Given the description of an element on the screen output the (x, y) to click on. 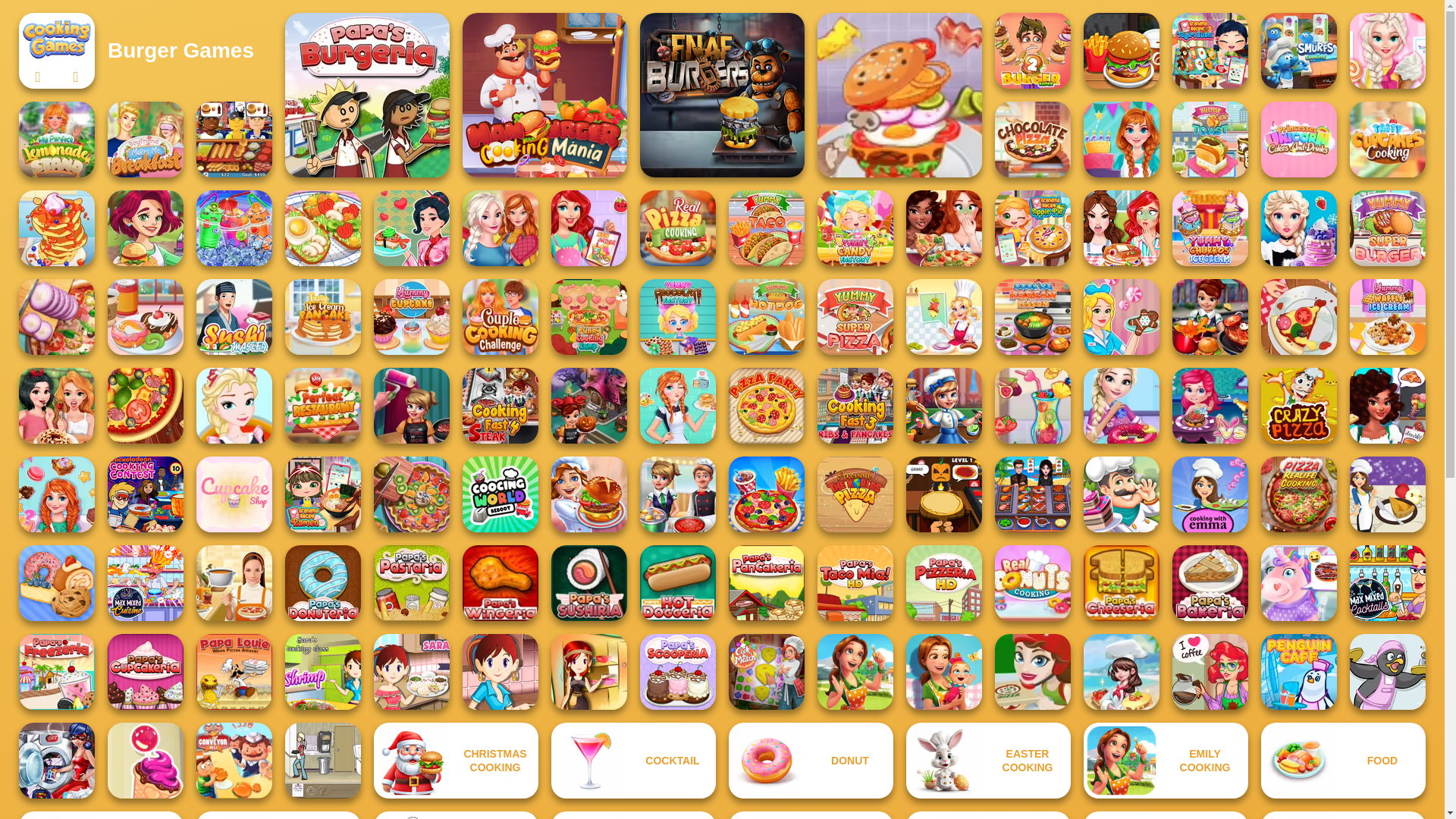
Papa's Burgeria (367, 95)
Tasty Cupcakes Cooking (1387, 139)
Burger Truck Frenzy USA (145, 228)
Burger Shop (1120, 50)
Hot Dog Bush (234, 139)
Princesses Unicorn Cakes And Drinks (1298, 139)
Grandma Recipe Nigiri Sushi (1209, 50)
The Smurfs: Cooking (1298, 50)
Princess Kitchen Stories: Ice Cream (1387, 50)
My Perfect Lemonade Stand (56, 139)
